Given the description of an element on the screen output the (x, y) to click on. 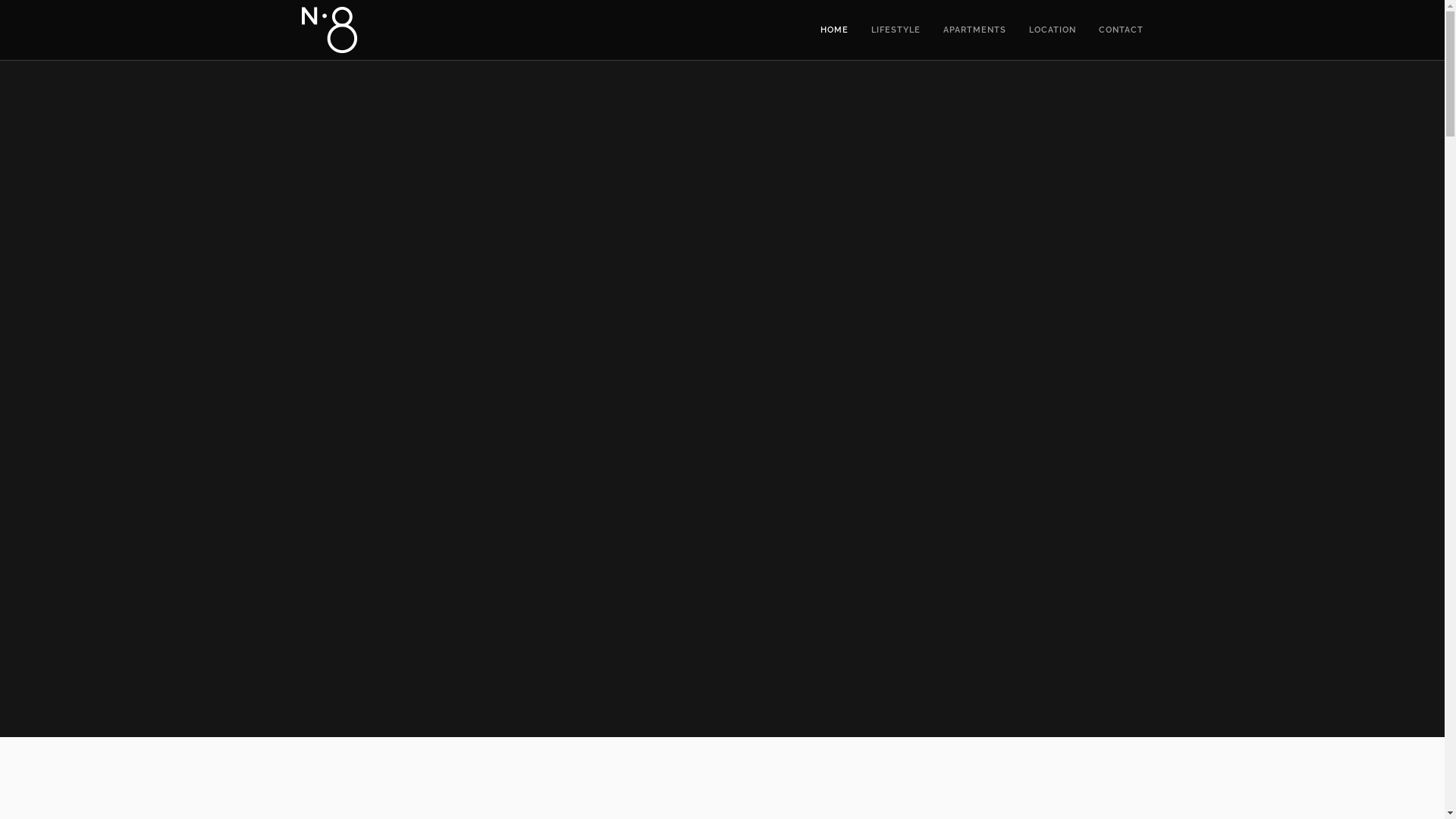
APARTMENTS Element type: text (974, 30)
LOCATION Element type: text (1051, 30)
HOME Element type: text (834, 30)
LIFESTYLE Element type: text (894, 30)
CONTACT Element type: text (1120, 30)
